Given the description of an element on the screen output the (x, y) to click on. 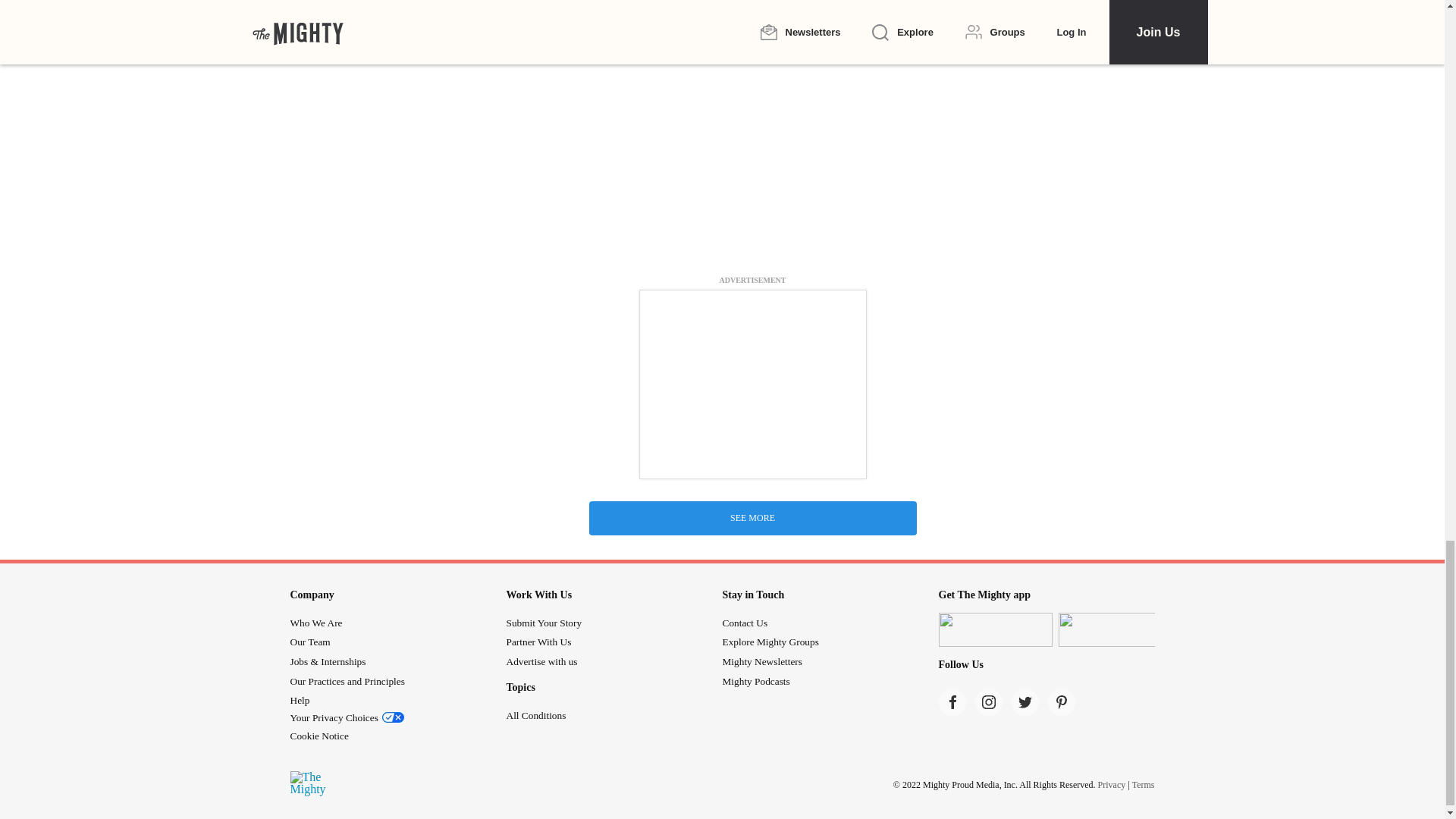
Who We Are (315, 622)
Our Practices and Principles (346, 681)
SEE MORE (751, 518)
Our Team (309, 641)
